Given the description of an element on the screen output the (x, y) to click on. 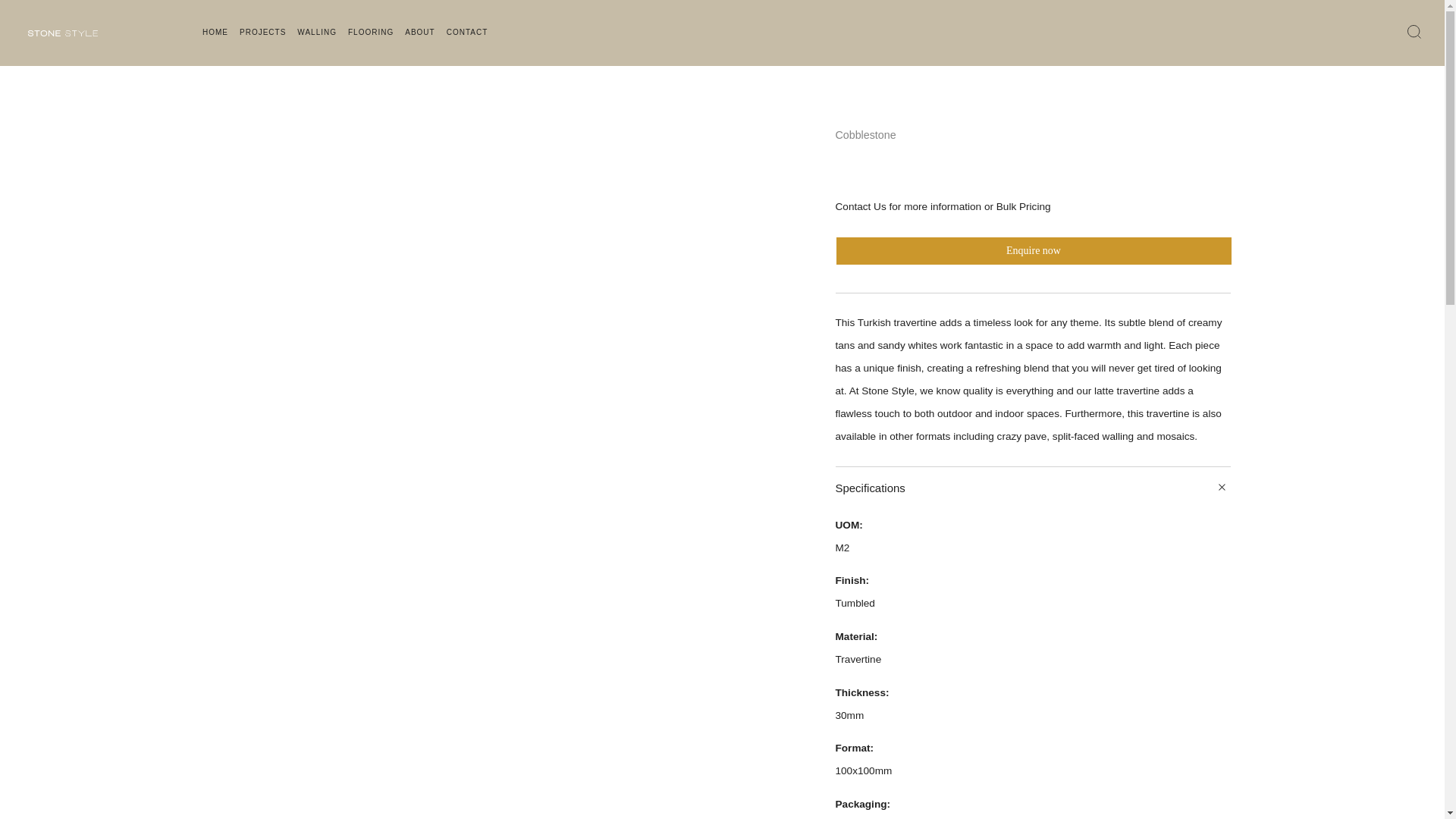
FLOORING (370, 32)
HOME (215, 32)
ABOUT (418, 32)
Cobblestone (865, 134)
WALLING (316, 32)
PROJECTS (262, 32)
CONTACT (466, 32)
